Given the description of an element on the screen output the (x, y) to click on. 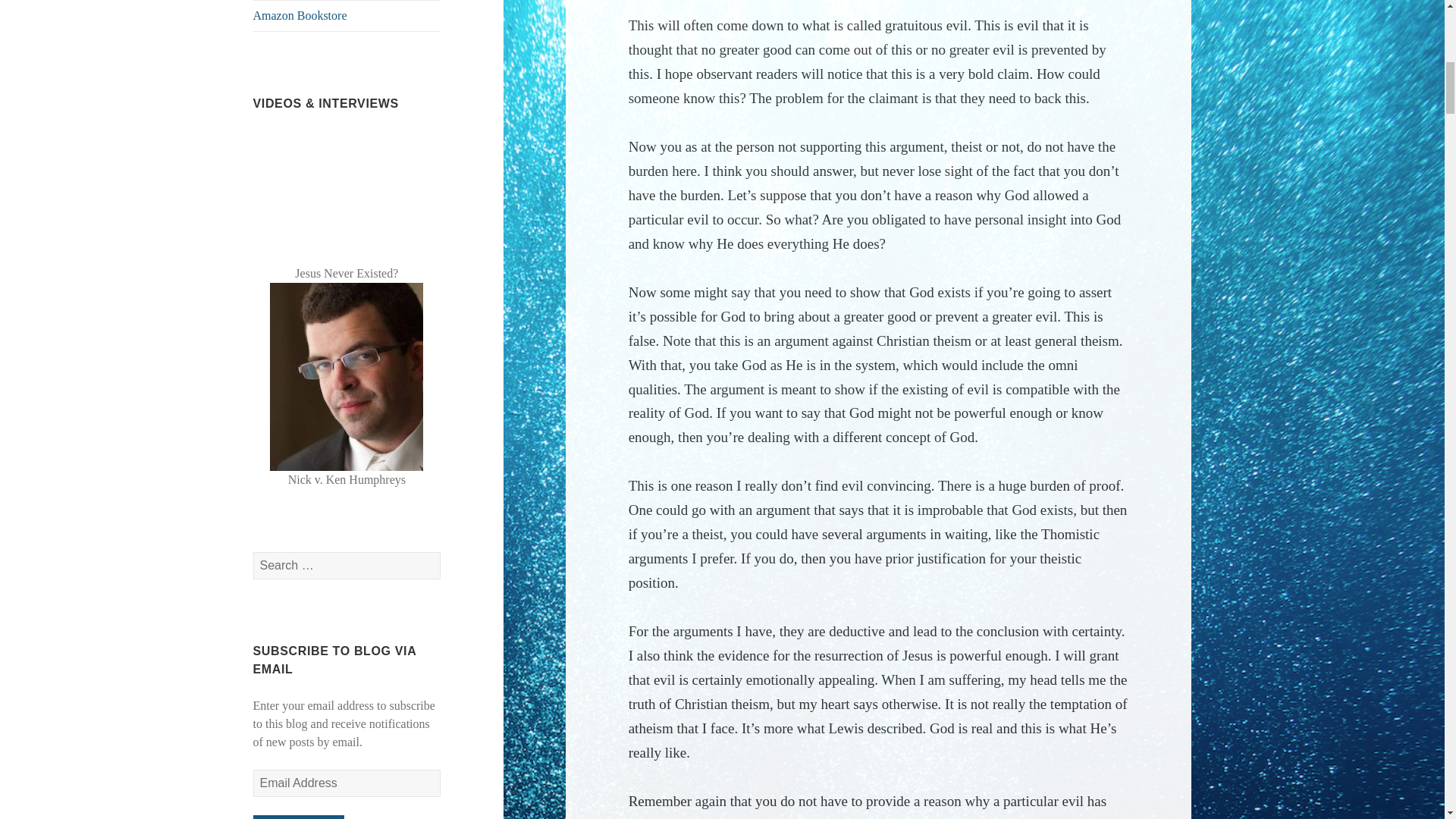
Amazon Bookstore (347, 15)
SUBSCRIBE (299, 816)
